Given the description of an element on the screen output the (x, y) to click on. 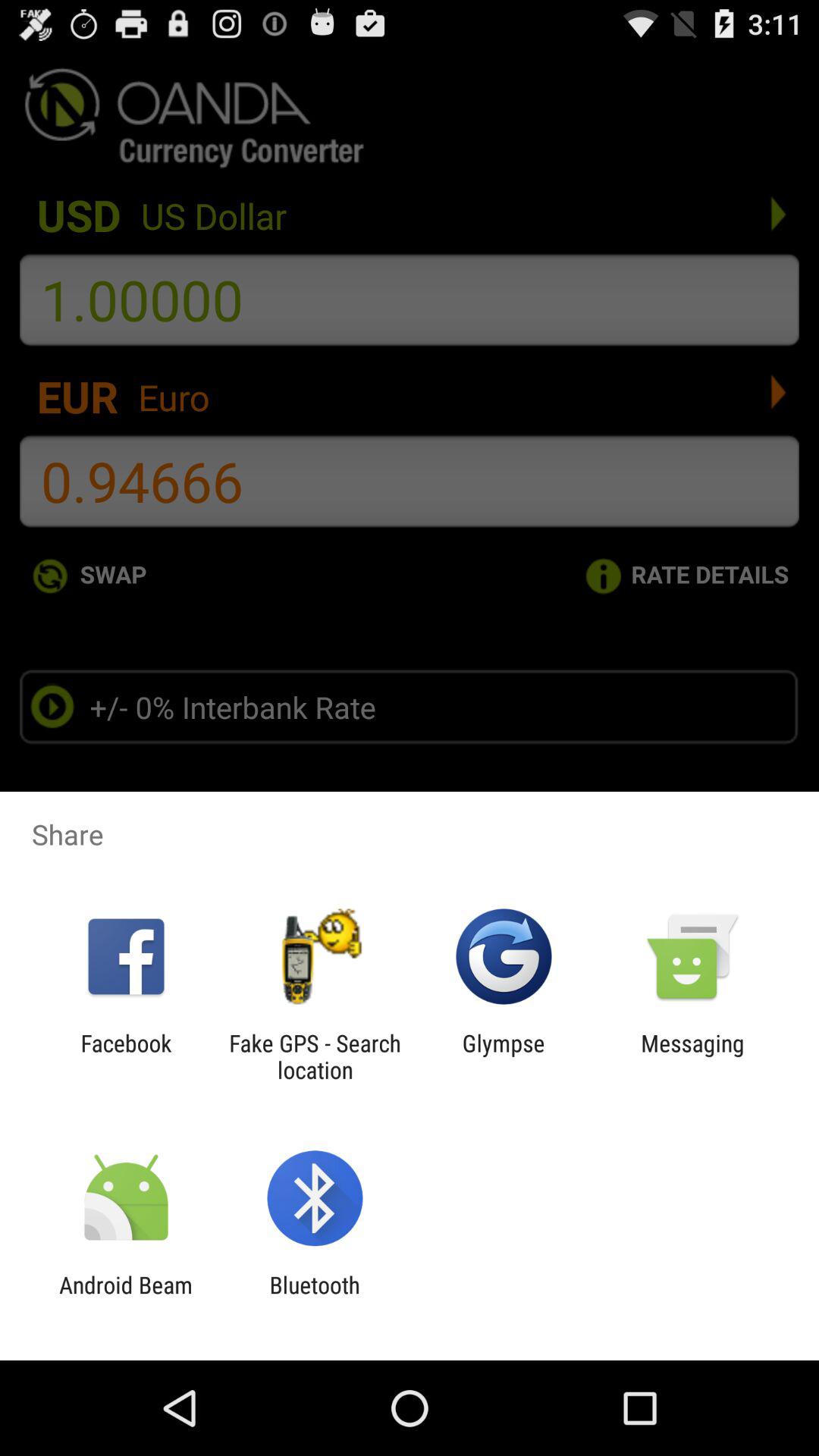
click app to the left of the glympse item (314, 1056)
